Given the description of an element on the screen output the (x, y) to click on. 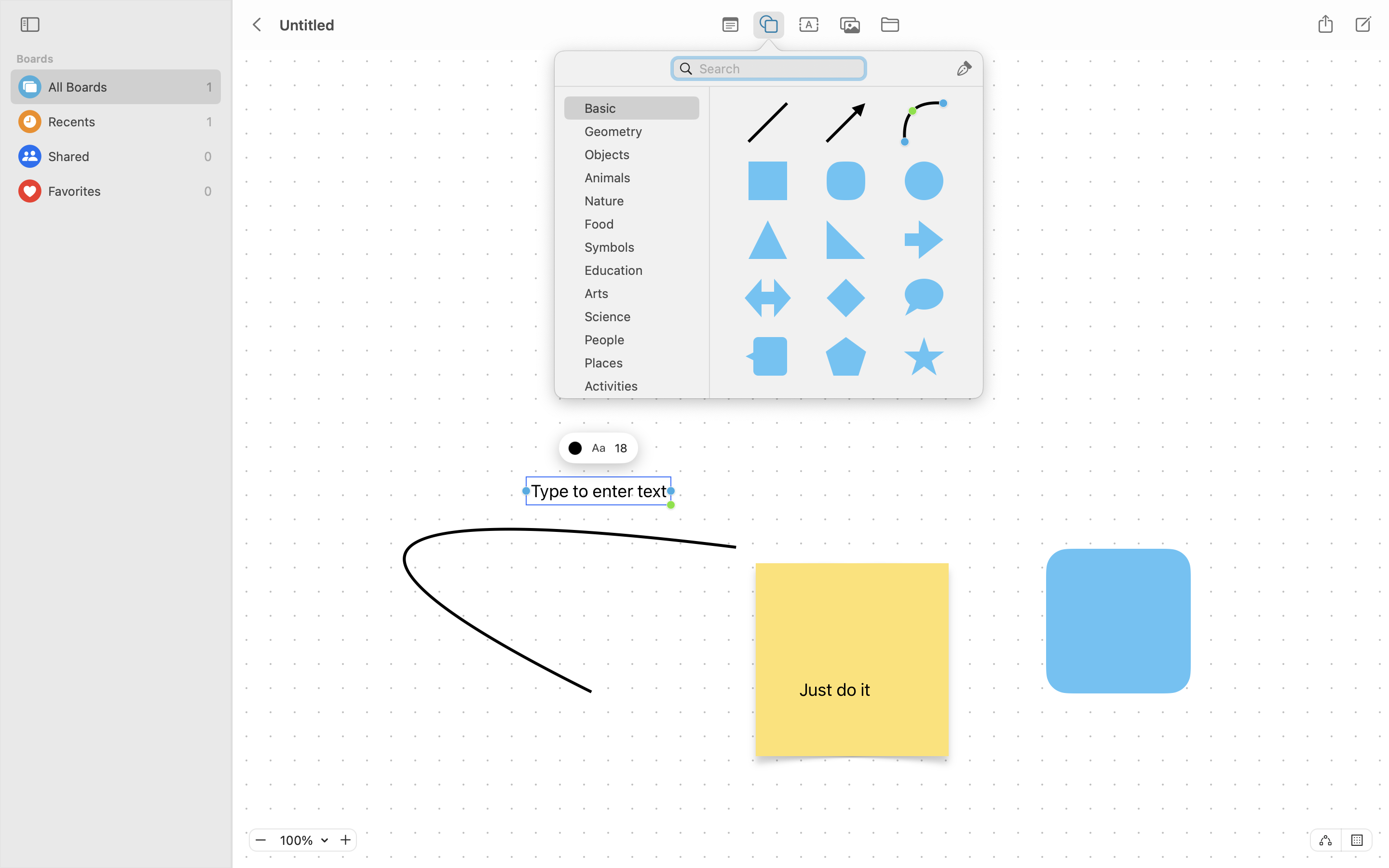
Untitled Element type: AXStaticText (305, 24)
Favorites Element type: AXStaticText (123, 190)
